Given the description of an element on the screen output the (x, y) to click on. 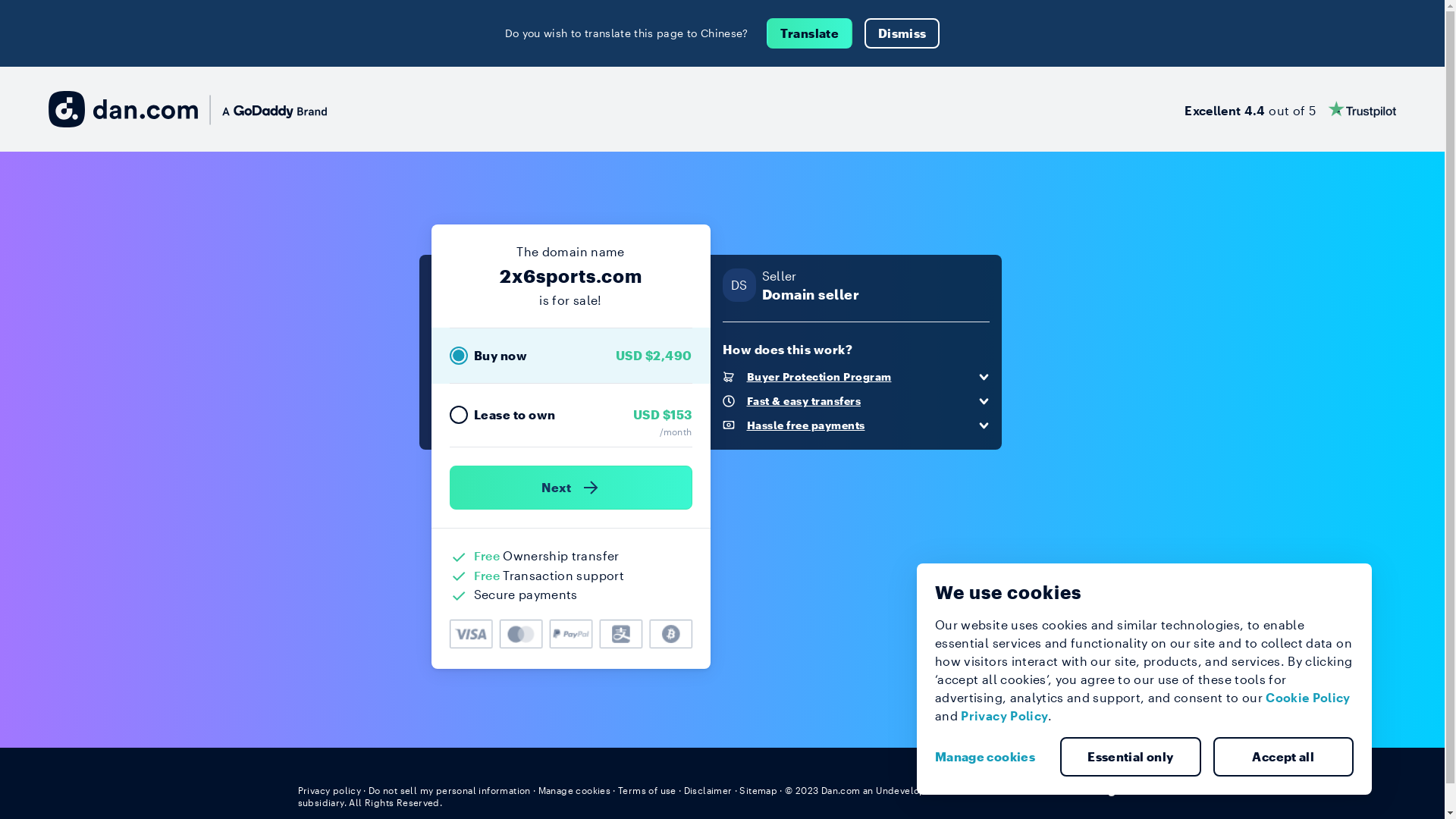
Cookie Policy Element type: text (1307, 697)
Dismiss Element type: text (901, 33)
Do not sell my personal information Element type: text (449, 789)
English Element type: text (1119, 789)
Privacy Policy Element type: text (1004, 715)
Terms of use Element type: text (647, 789)
Excellent 4.4 out of 5 Element type: text (1290, 109)
Privacy policy Element type: text (328, 789)
Essential only Element type: text (1130, 756)
Manage cookies Element type: text (574, 790)
Accept all Element type: text (1283, 756)
Sitemap Element type: text (758, 789)
Manage cookies Element type: text (991, 756)
Disclaimer Element type: text (708, 789)
Translate Element type: text (809, 33)
Next
) Element type: text (569, 487)
